Given the description of an element on the screen output the (x, y) to click on. 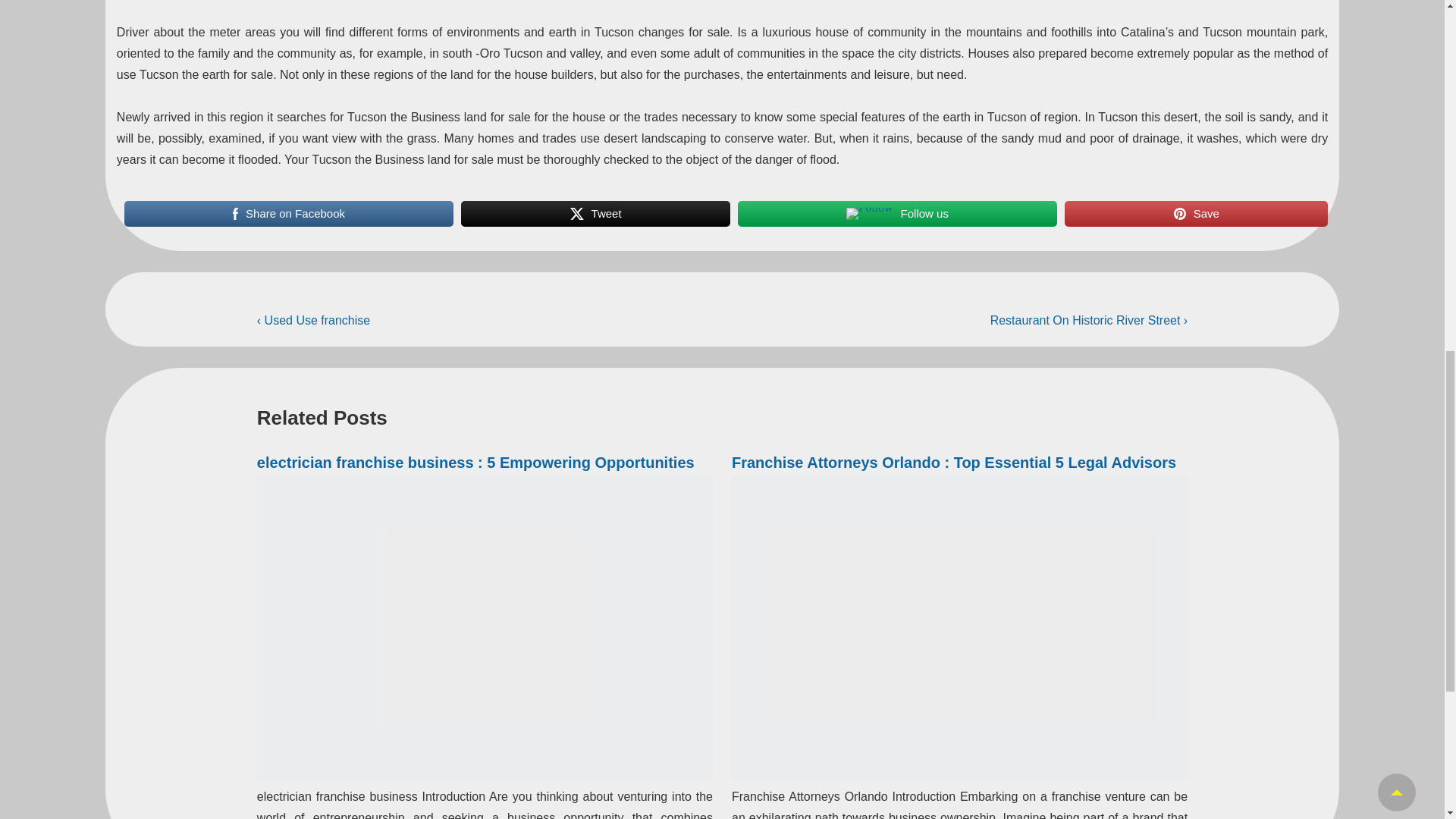
Business land for sale 3 (868, 214)
Save (1195, 213)
Follow us (897, 213)
Business land for sale 4 (1179, 214)
Franchise Attorneys Orlando : Top Essential 5 Legal Advisors (954, 462)
Tweet (595, 213)
Business land for sale 2 (576, 214)
Share on Facebook (288, 213)
electrician franchise business : 5 Empowering Opportunities (475, 462)
